Given the description of an element on the screen output the (x, y) to click on. 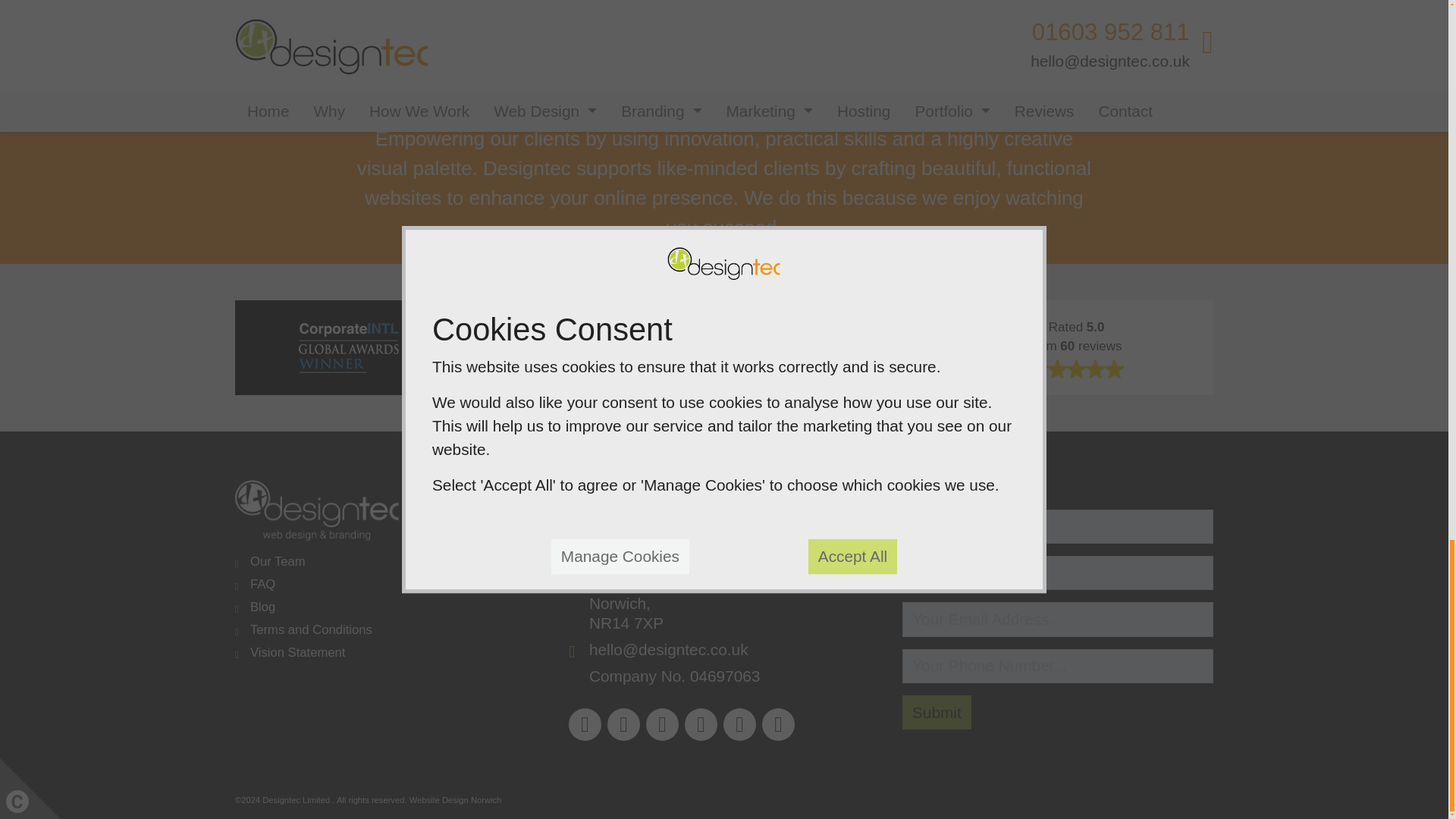
Submit (936, 712)
